Given the description of an element on the screen output the (x, y) to click on. 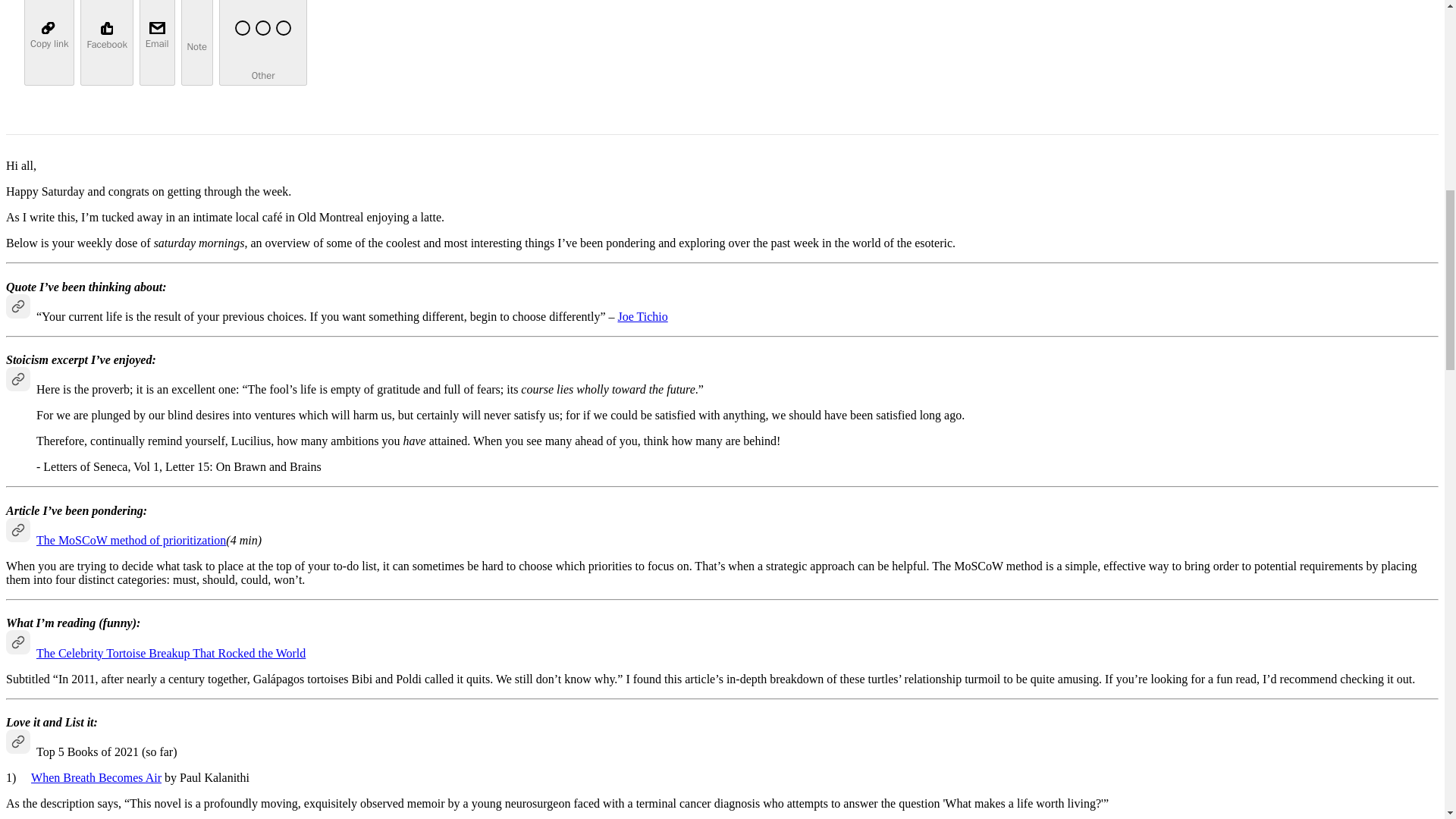
The MoSCoW method of prioritization (130, 540)
Facebook (106, 42)
Other (263, 42)
The Celebrity Tortoise Breakup That Rocked the World (170, 653)
Email (156, 42)
When Breath Becomes Air (95, 777)
Copy link (49, 42)
Note (196, 42)
Joe Tichio (641, 316)
